Given the description of an element on the screen output the (x, y) to click on. 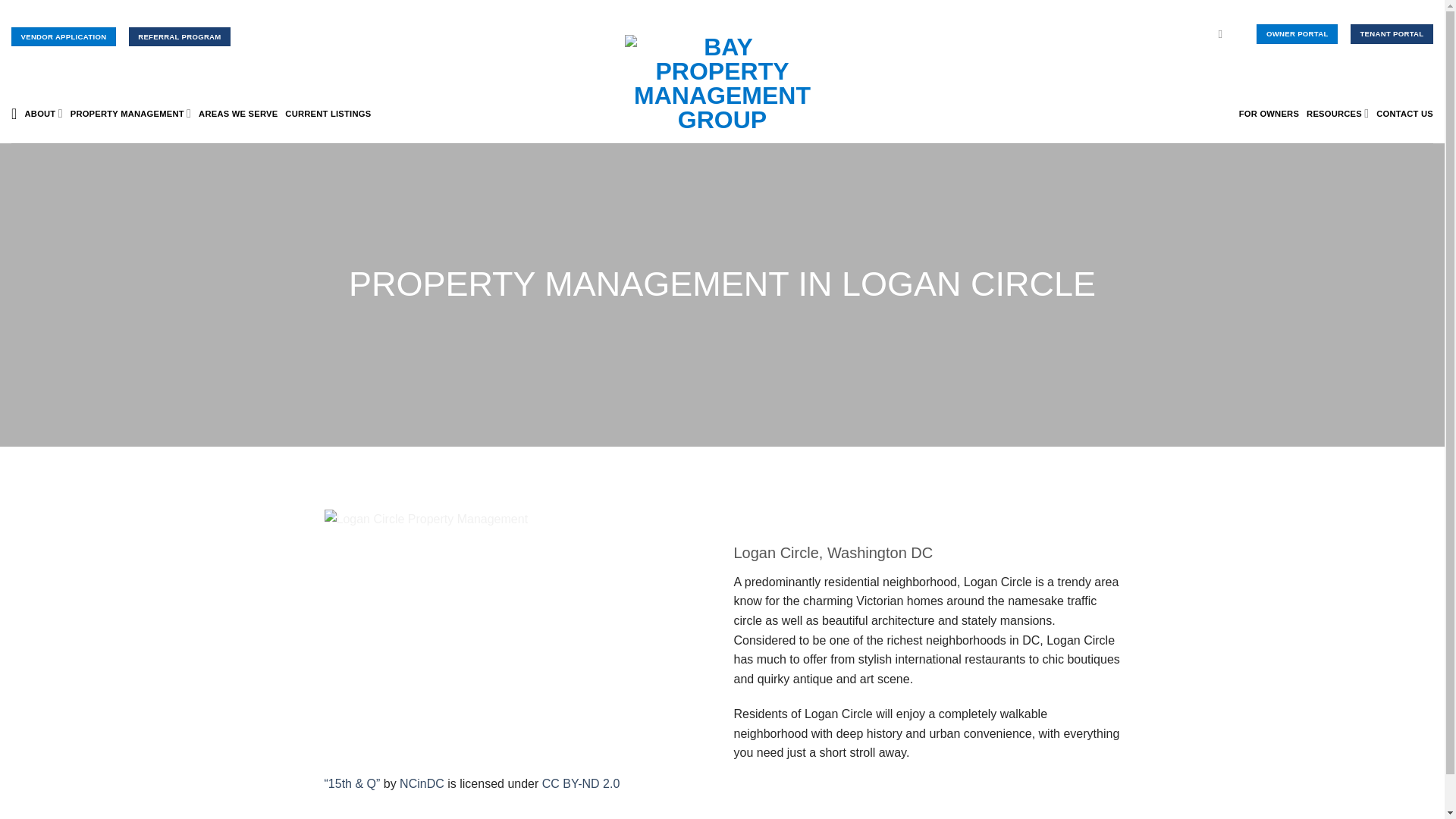
PROPERTY MANAGEMENT (129, 112)
FOR OWNERS (1268, 113)
VENDOR APPLICATION (63, 36)
OWNER PORTAL (1297, 33)
REFERRAL PROGRAM (179, 36)
ABOUT (43, 112)
CC BY-ND 2.0 (580, 783)
NCinDC (421, 783)
CONTACT US (1403, 113)
CURRENT LISTINGS (328, 113)
Bay Property Management Group (721, 83)
AREAS WE SERVE (238, 113)
TENANT PORTAL (1391, 33)
RESOURCES (1337, 112)
